Given the description of an element on the screen output the (x, y) to click on. 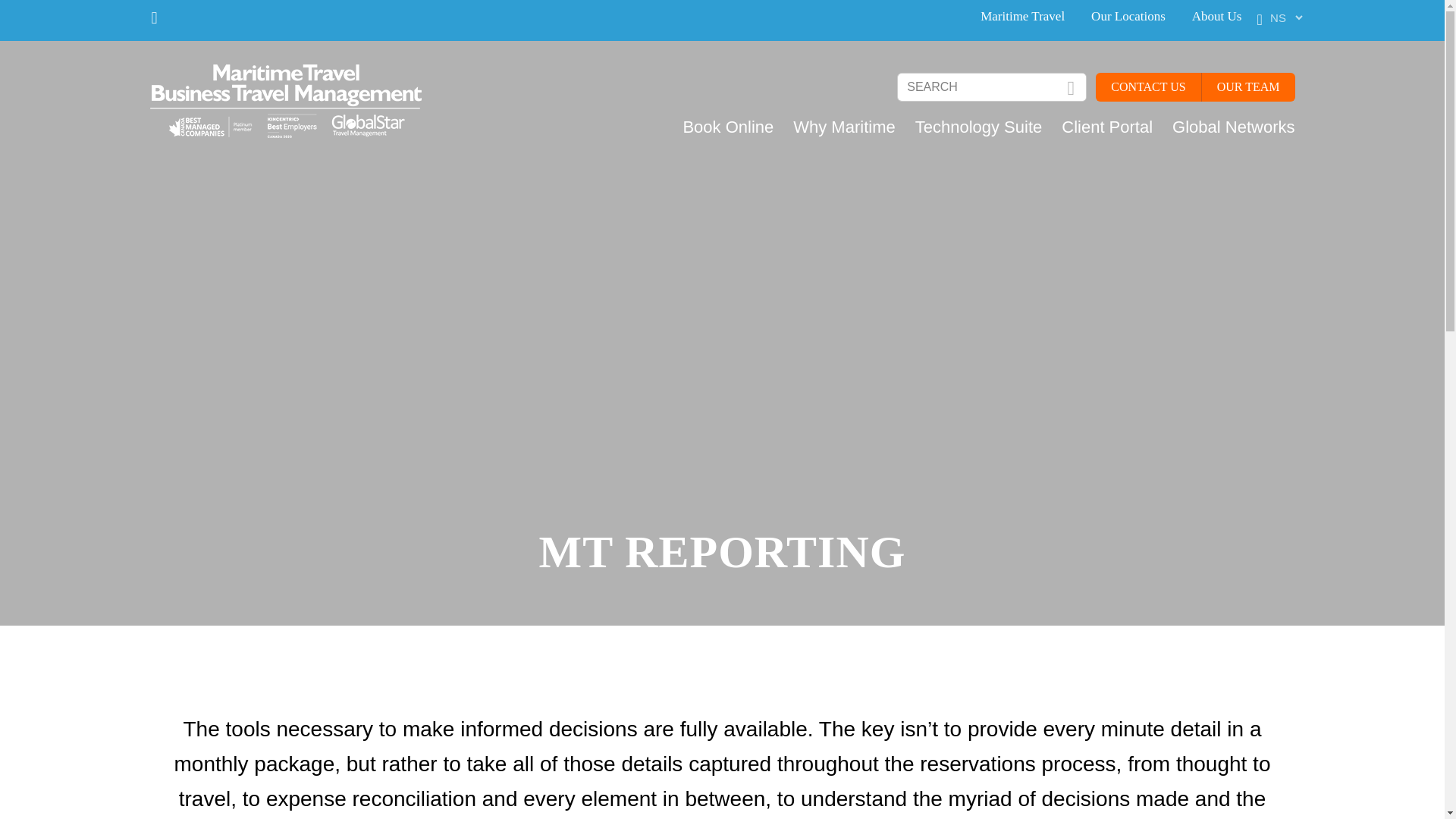
About Us (1216, 16)
Book Online (717, 126)
Why Maritime (834, 126)
Client Portal (1097, 126)
Technology Suite (968, 126)
Maritime-BT-Logo-White (285, 101)
Global Networks (1223, 126)
Maritime Travel (1021, 16)
Our Locations (1128, 16)
Maritime-BT-Logo-Color (285, 102)
